Given the description of an element on the screen output the (x, y) to click on. 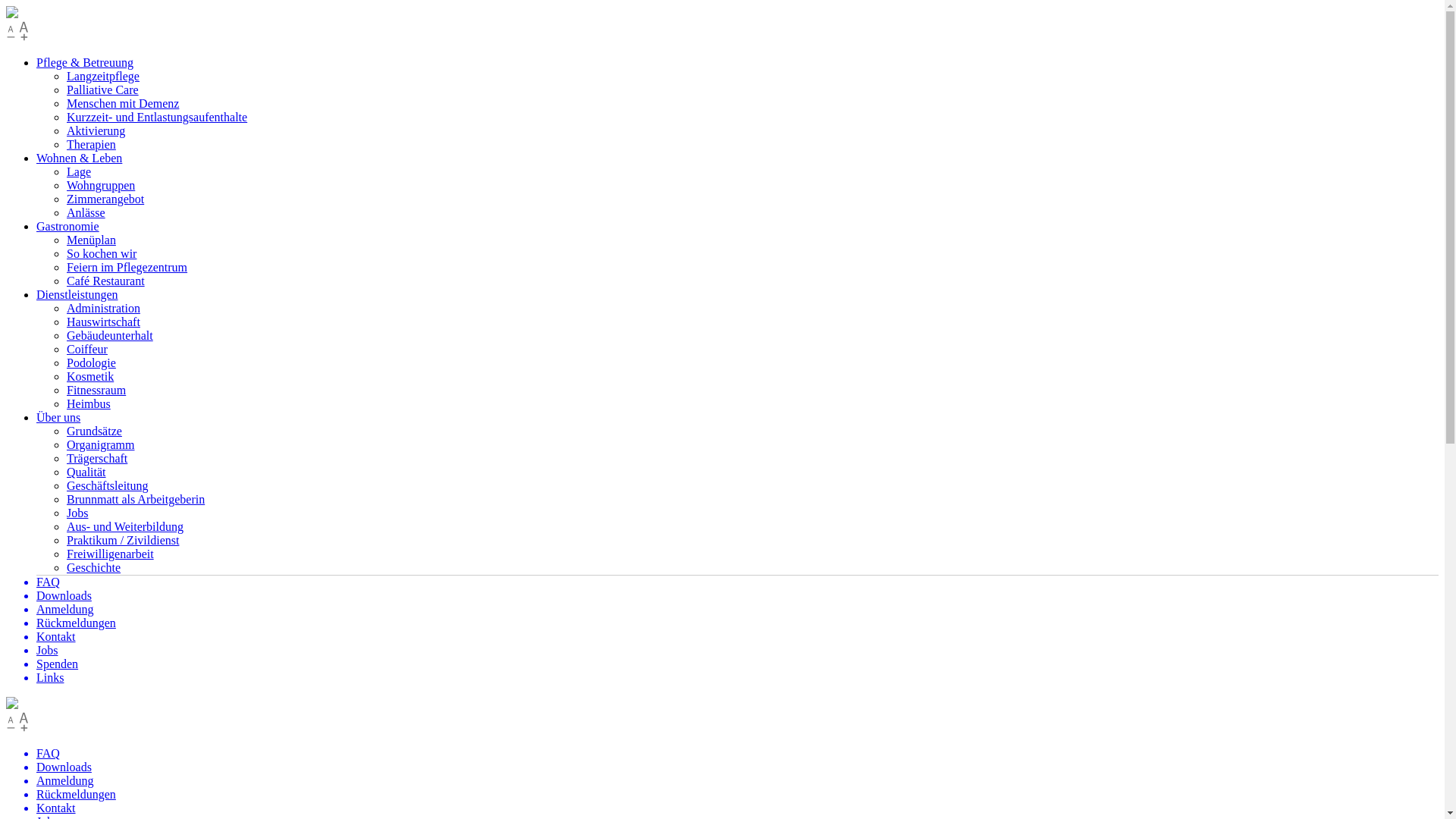
Praktikum / Zivildienst Element type: text (122, 539)
Feiern im Pflegezentrum Element type: text (126, 266)
Kontakt Element type: text (737, 636)
Wohngruppen Element type: text (100, 184)
FAQ Element type: text (737, 581)
Kurzzeit- und Entlastungsaufenthalte Element type: text (156, 116)
Zimmerangebot Element type: text (105, 198)
Geschichte Element type: text (93, 567)
Hauswirtschaft Element type: text (103, 321)
Lage Element type: text (78, 171)
Spenden Element type: text (737, 664)
Heimbus Element type: text (88, 403)
Wohnen & Leben Element type: text (79, 157)
Brunnmatt als Arbeitgeberin Element type: text (135, 498)
Dienstleistungen Element type: text (77, 294)
Podologie Element type: text (91, 362)
Kosmetik Element type: text (89, 376)
Aus- und Weiterbildung Element type: text (124, 526)
Palliative Care Element type: text (102, 89)
Kontakt Element type: text (737, 808)
Gastronomie Element type: text (67, 225)
Links Element type: text (737, 677)
Anmeldung Element type: text (737, 609)
Fitnessraum Element type: text (95, 389)
Downloads Element type: text (737, 595)
Aktivierung Element type: text (95, 130)
Anmeldung Element type: text (737, 780)
Freiwilligenarbeit Element type: text (109, 553)
Jobs Element type: text (76, 512)
Jobs Element type: text (737, 650)
Therapien Element type: text (91, 144)
So kochen wir Element type: text (101, 253)
Pflege & Betreuung Element type: text (84, 62)
Downloads Element type: text (737, 767)
Organigramm Element type: text (100, 444)
Coiffeur Element type: text (86, 348)
Menschen mit Demenz Element type: text (122, 103)
Administration Element type: text (103, 307)
Langzeitpflege Element type: text (102, 75)
FAQ Element type: text (737, 753)
